Given the description of an element on the screen output the (x, y) to click on. 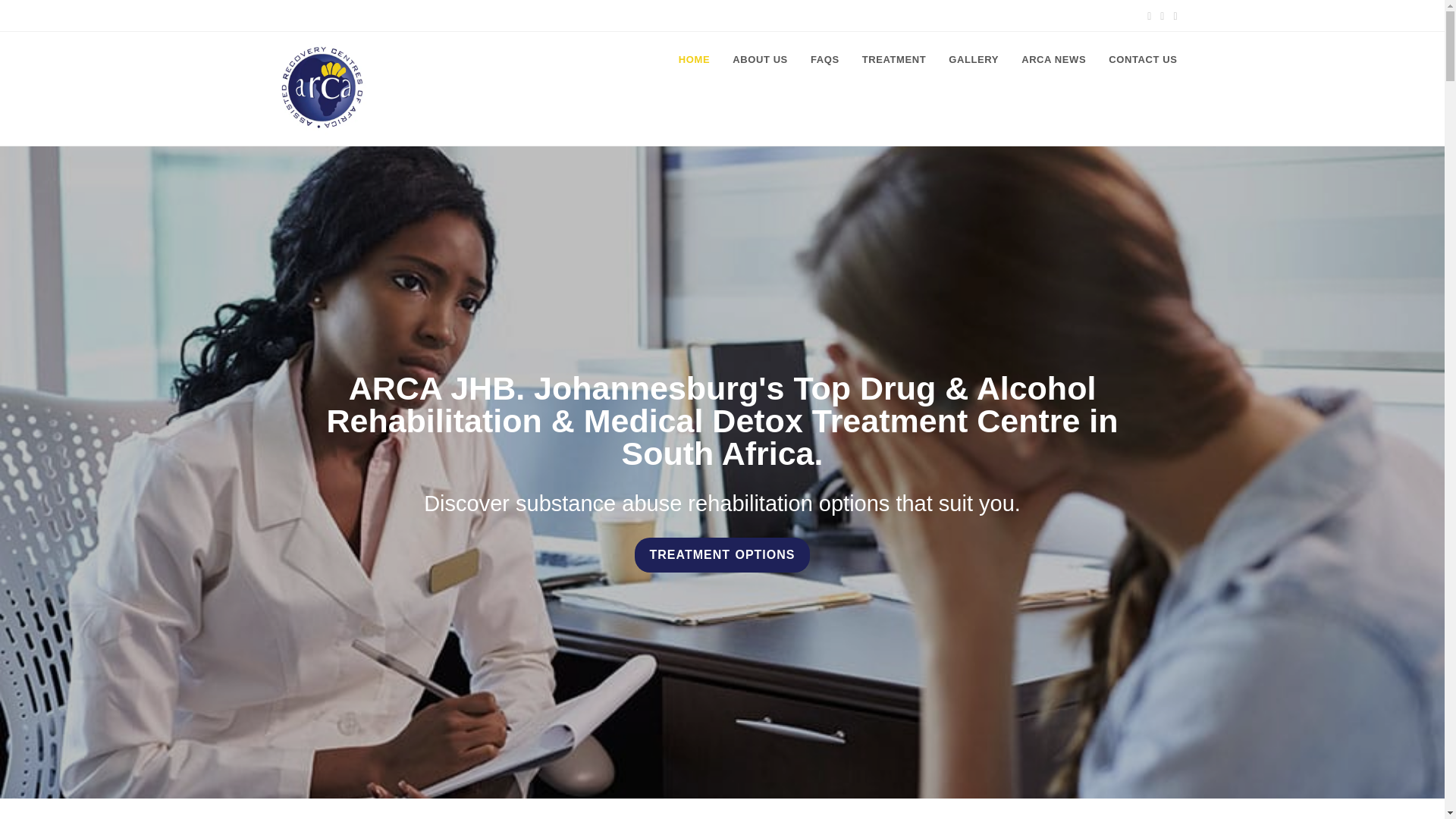
ARCA NEWS (1053, 59)
062 277 0911 (312, 15)
FAQS (824, 59)
GALLERY (973, 59)
CONTACT US (1142, 59)
TREATMENT (893, 59)
TREATMENT OPTIONS (722, 554)
HOME (693, 59)
ABOUT US (759, 59)
